Given the description of an element on the screen output the (x, y) to click on. 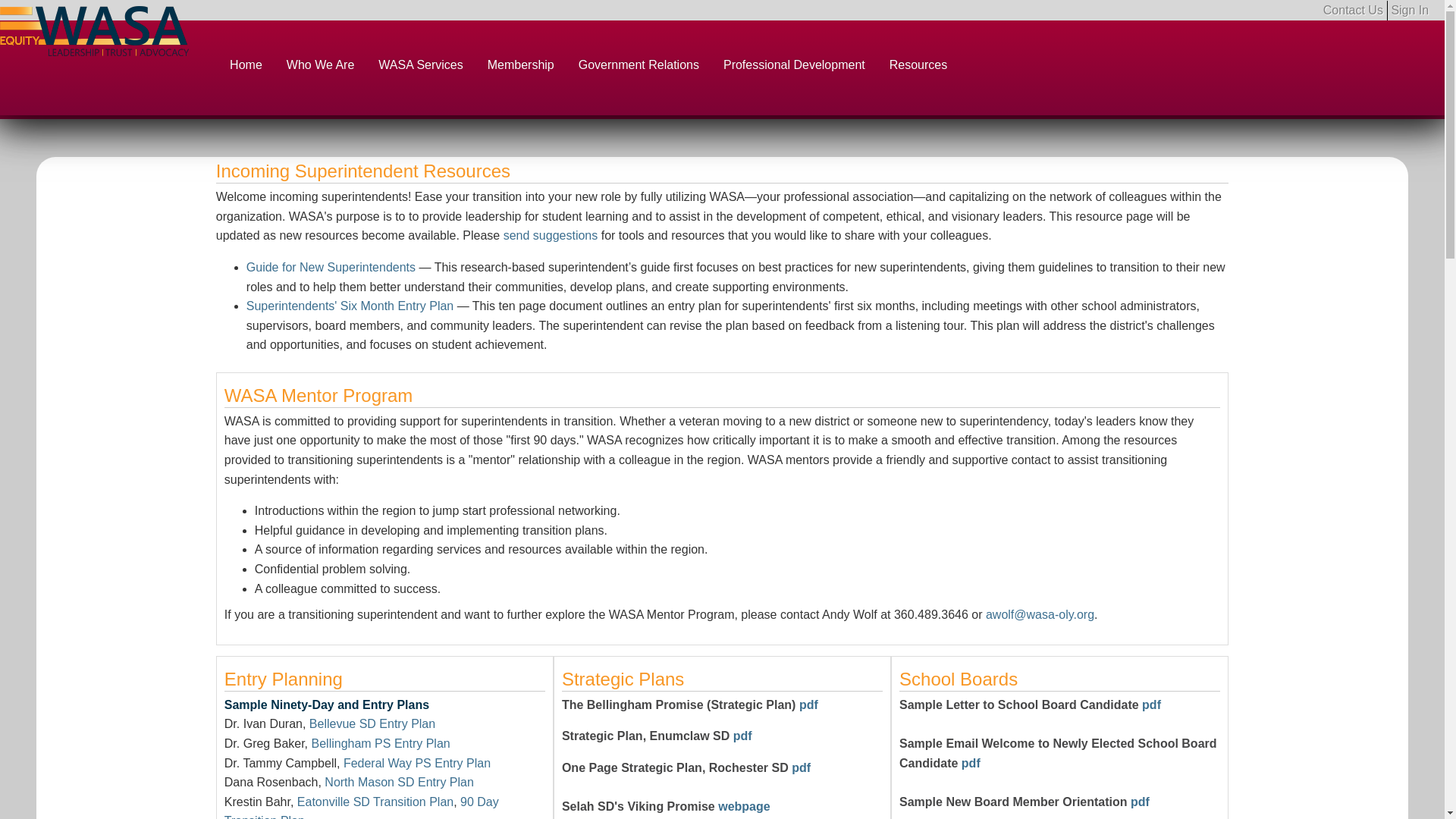
Sign In (1409, 10)
WASA Services (420, 67)
Contact Us (1355, 10)
Membership (521, 67)
Who We Are (320, 67)
